Given the description of an element on the screen output the (x, y) to click on. 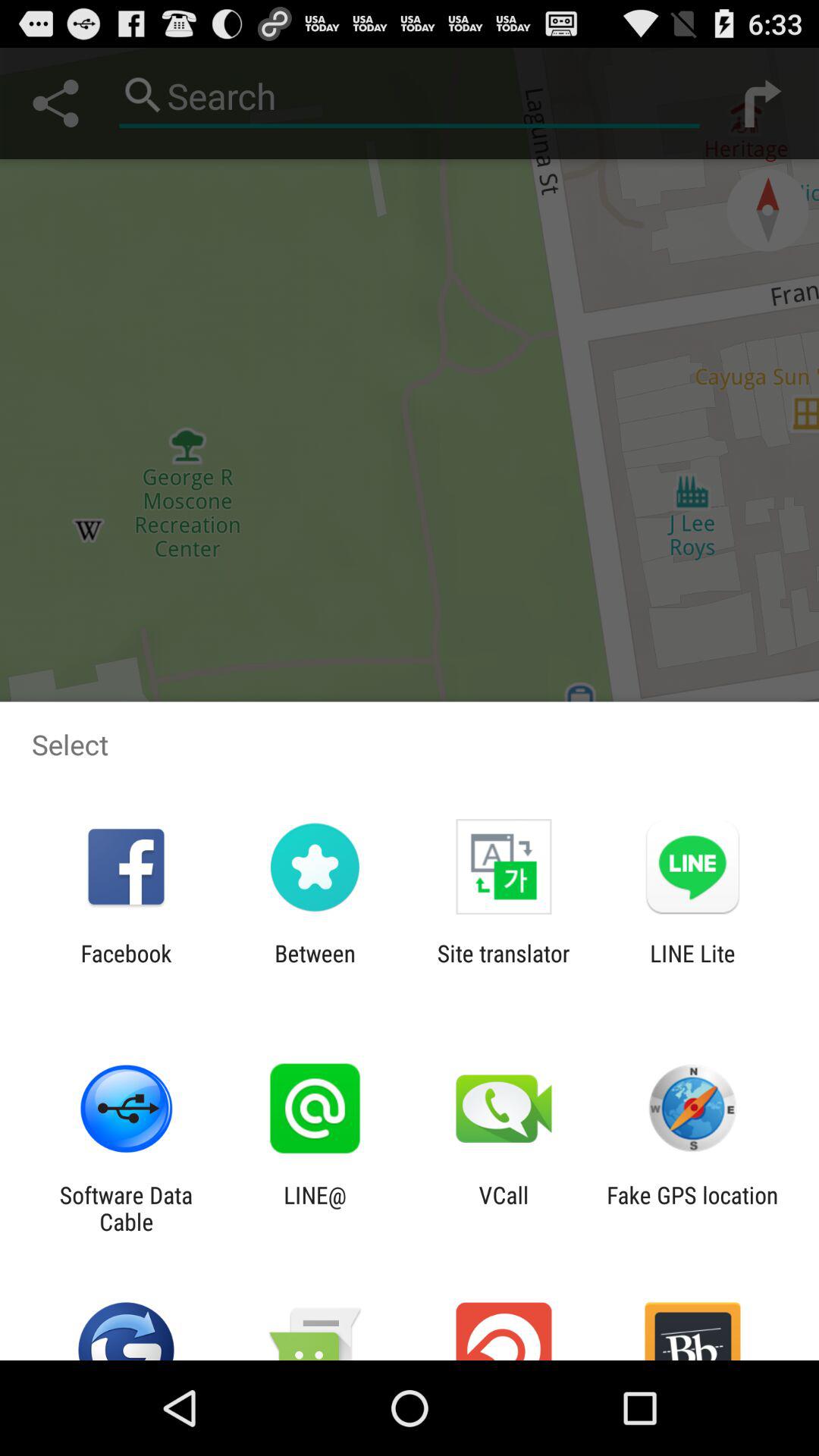
select software data cable app (125, 1208)
